Given the description of an element on the screen output the (x, y) to click on. 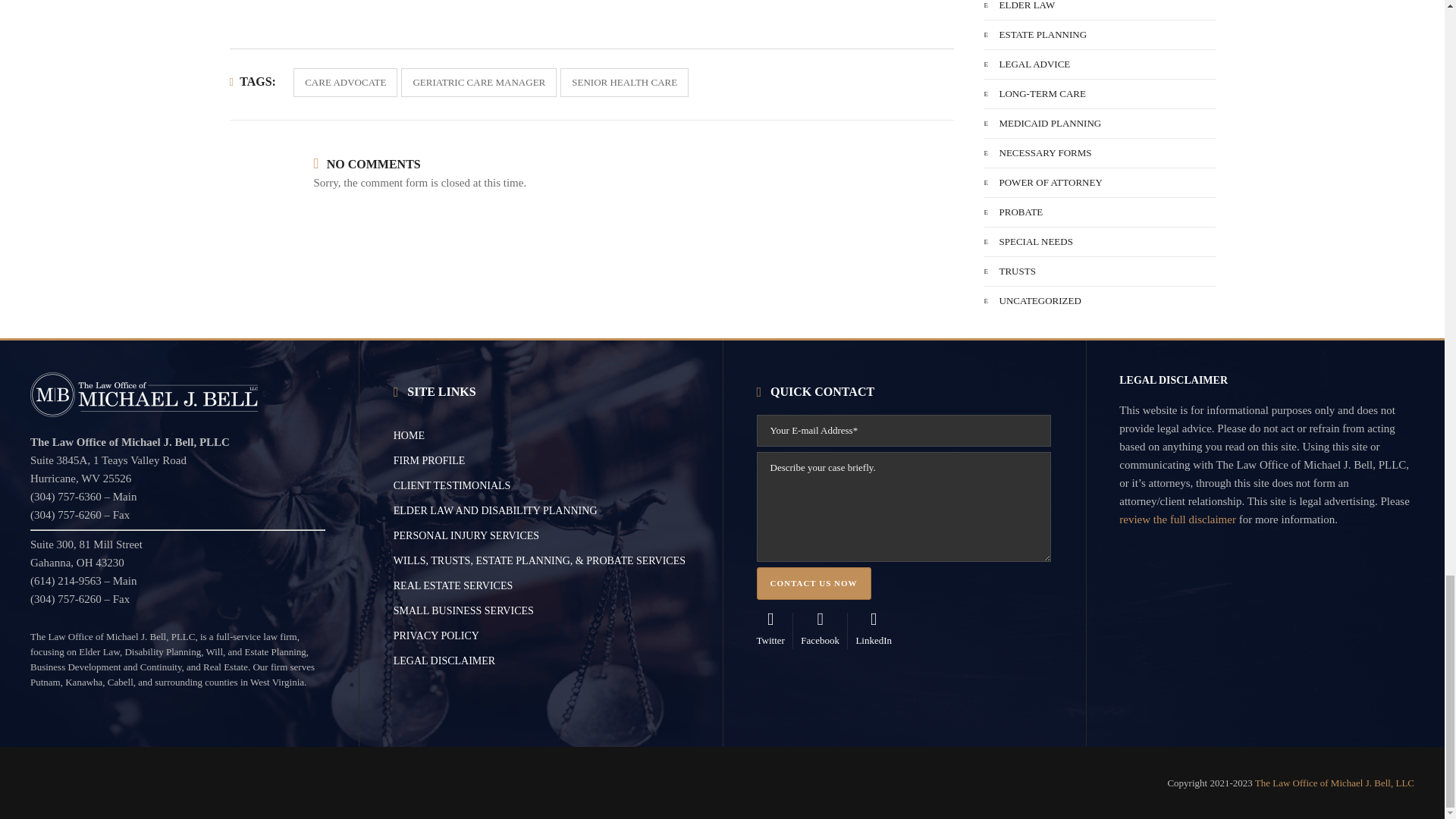
Contact us now (813, 583)
